Given the description of an element on the screen output the (x, y) to click on. 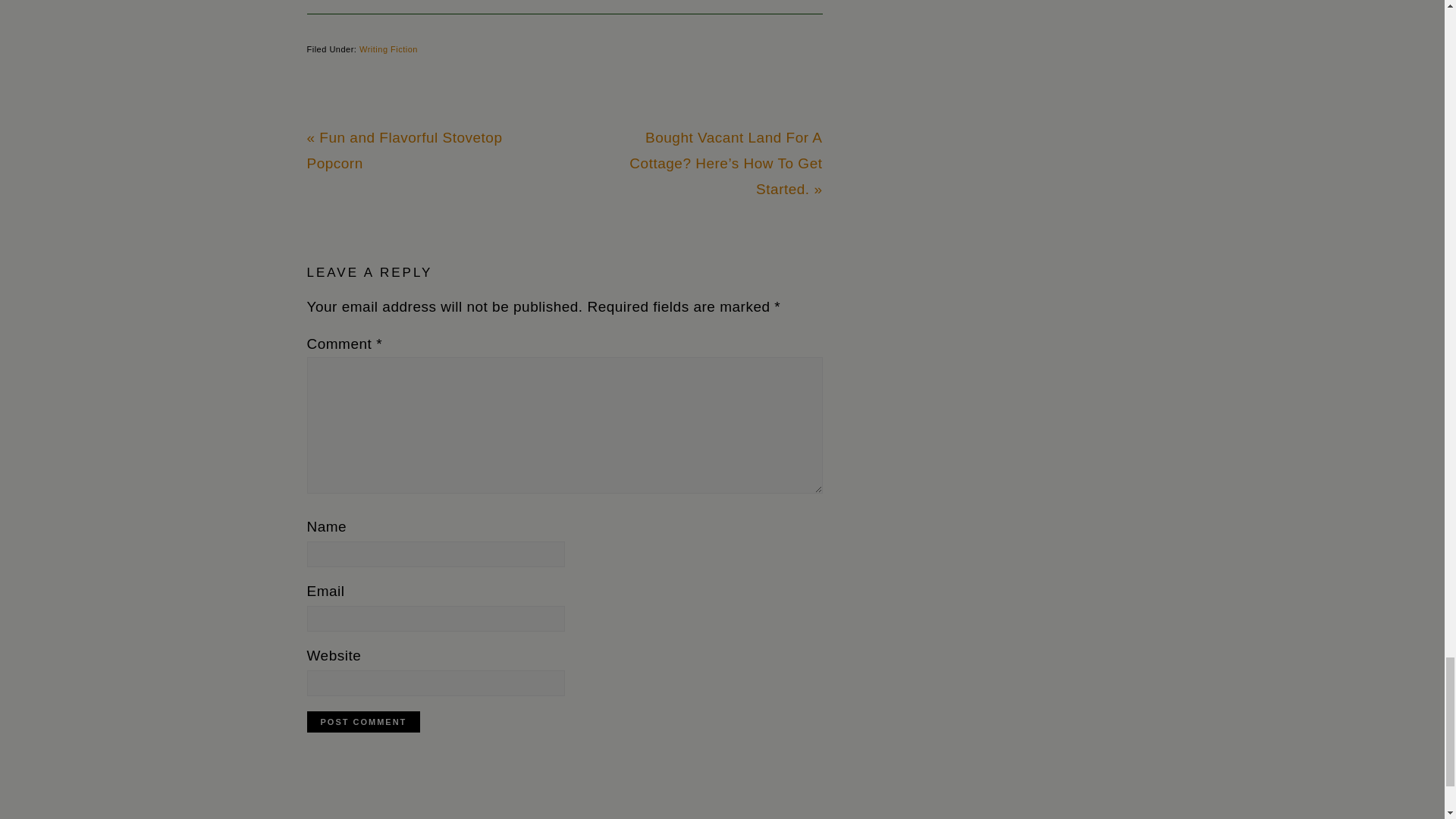
Post Comment (362, 721)
Post Comment (362, 721)
Writing Fiction (388, 49)
